Given the description of an element on the screen output the (x, y) to click on. 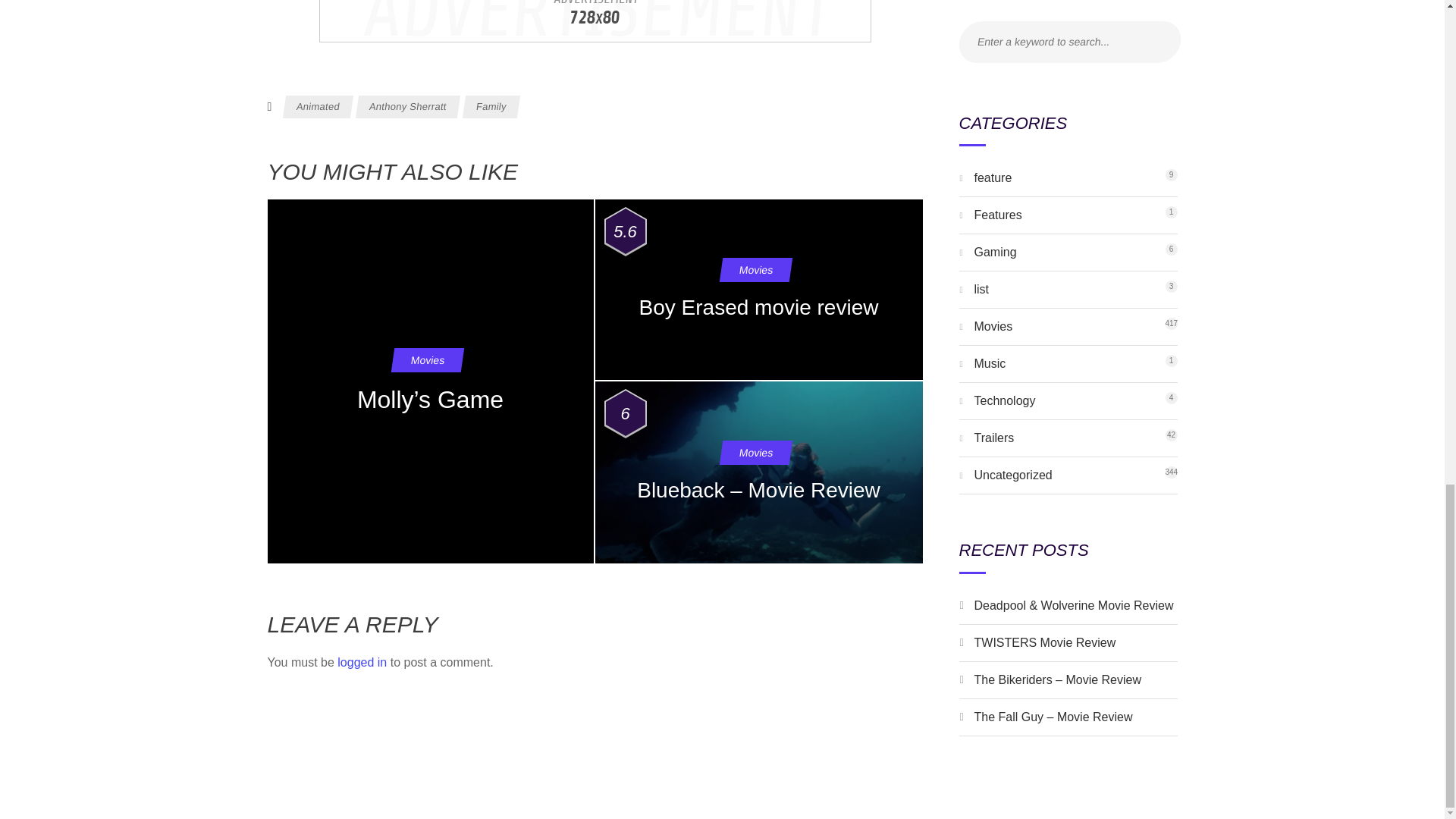
Family (489, 106)
logged in (990, 363)
